Given the description of an element on the screen output the (x, y) to click on. 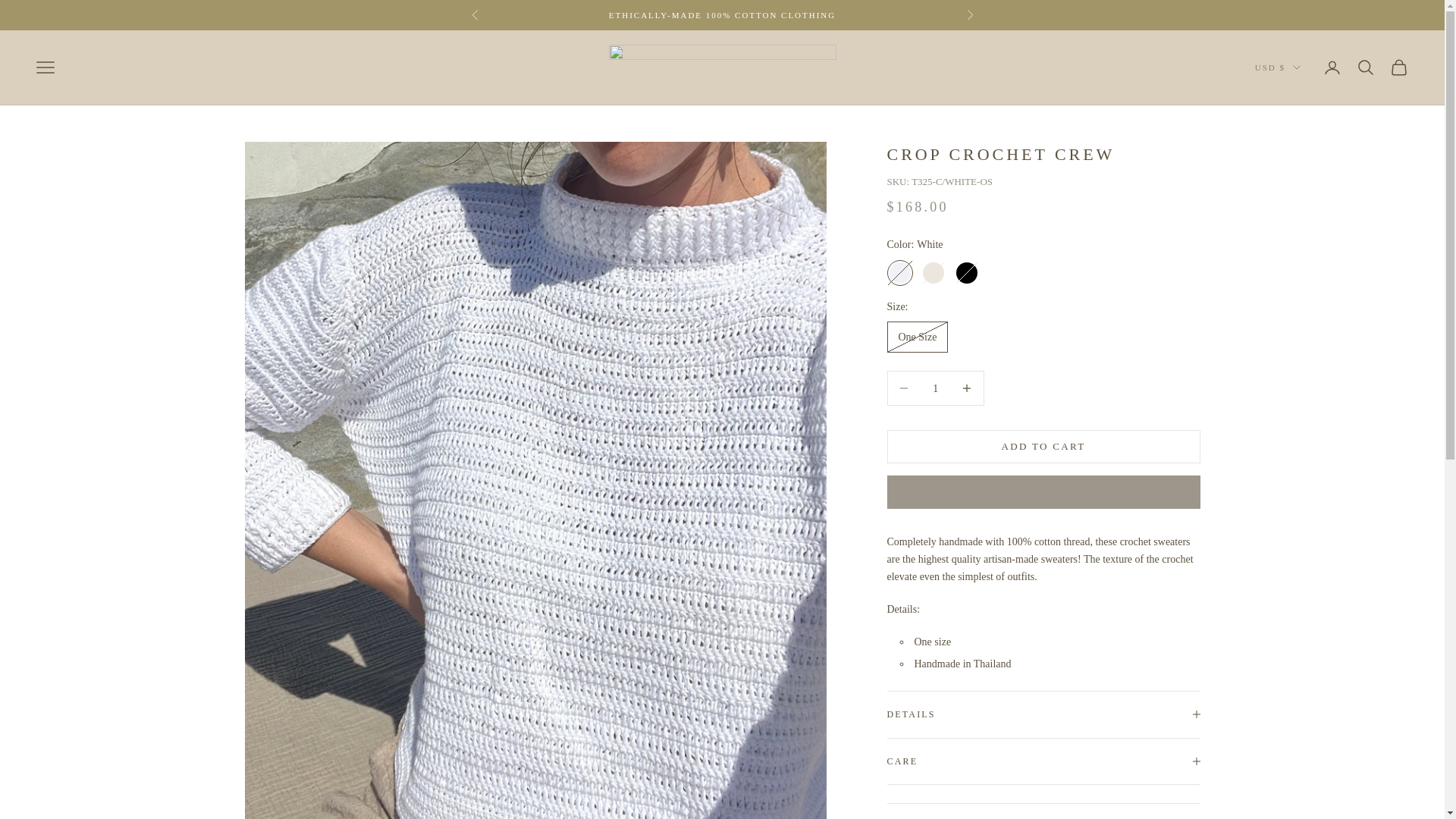
Open navigation menu (45, 67)
1 (935, 387)
Honest Cotton (721, 67)
